Given the description of an element on the screen output the (x, y) to click on. 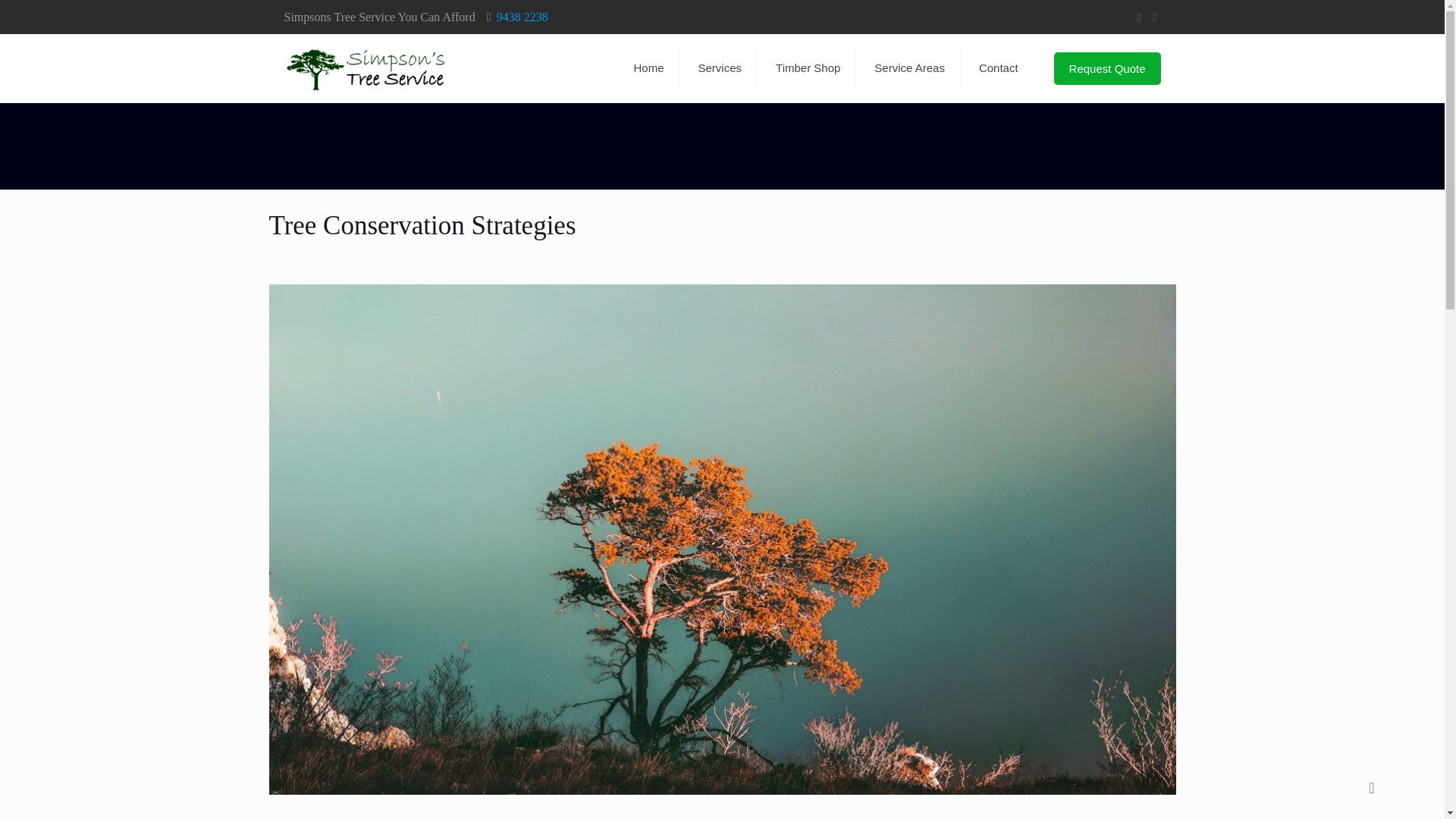
Facebook (1138, 17)
Contact (998, 67)
9438 2238 (522, 16)
Home (648, 67)
LinkedIn (1155, 17)
Services (719, 67)
Simpsons Tree Service (363, 68)
Request Quote (1107, 67)
Timber Shop (808, 67)
Service Areas (909, 67)
